Given the description of an element on the screen output the (x, y) to click on. 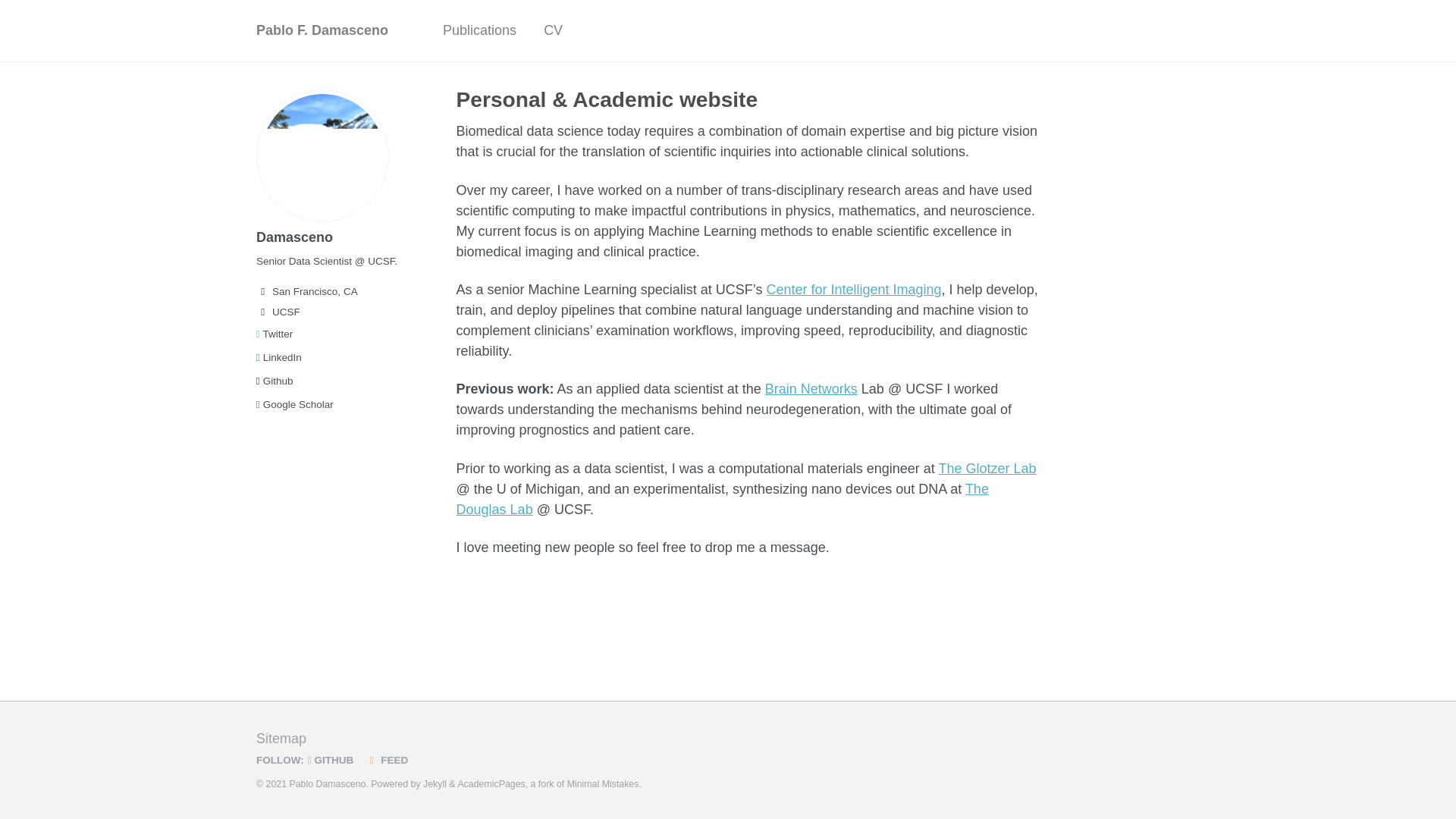
The Douglas Lab (722, 498)
Brain Networks (811, 388)
The Glotzer Lab (987, 468)
